Given the description of an element on the screen output the (x, y) to click on. 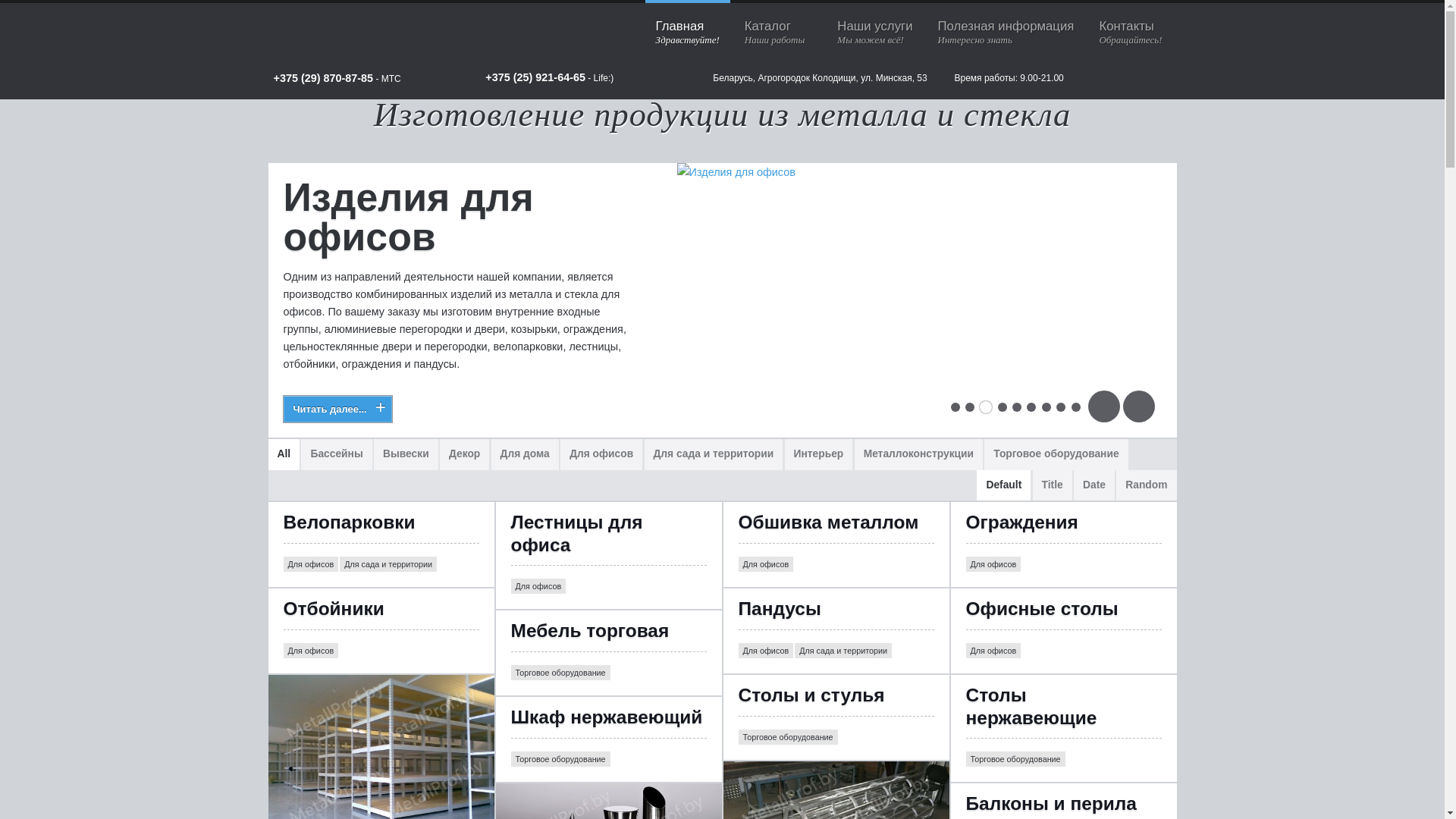
+375 (29) 870-87-85 Element type: text (323, 78)
+375 (25) 921-64-65 Element type: text (535, 77)
